Given the description of an element on the screen output the (x, y) to click on. 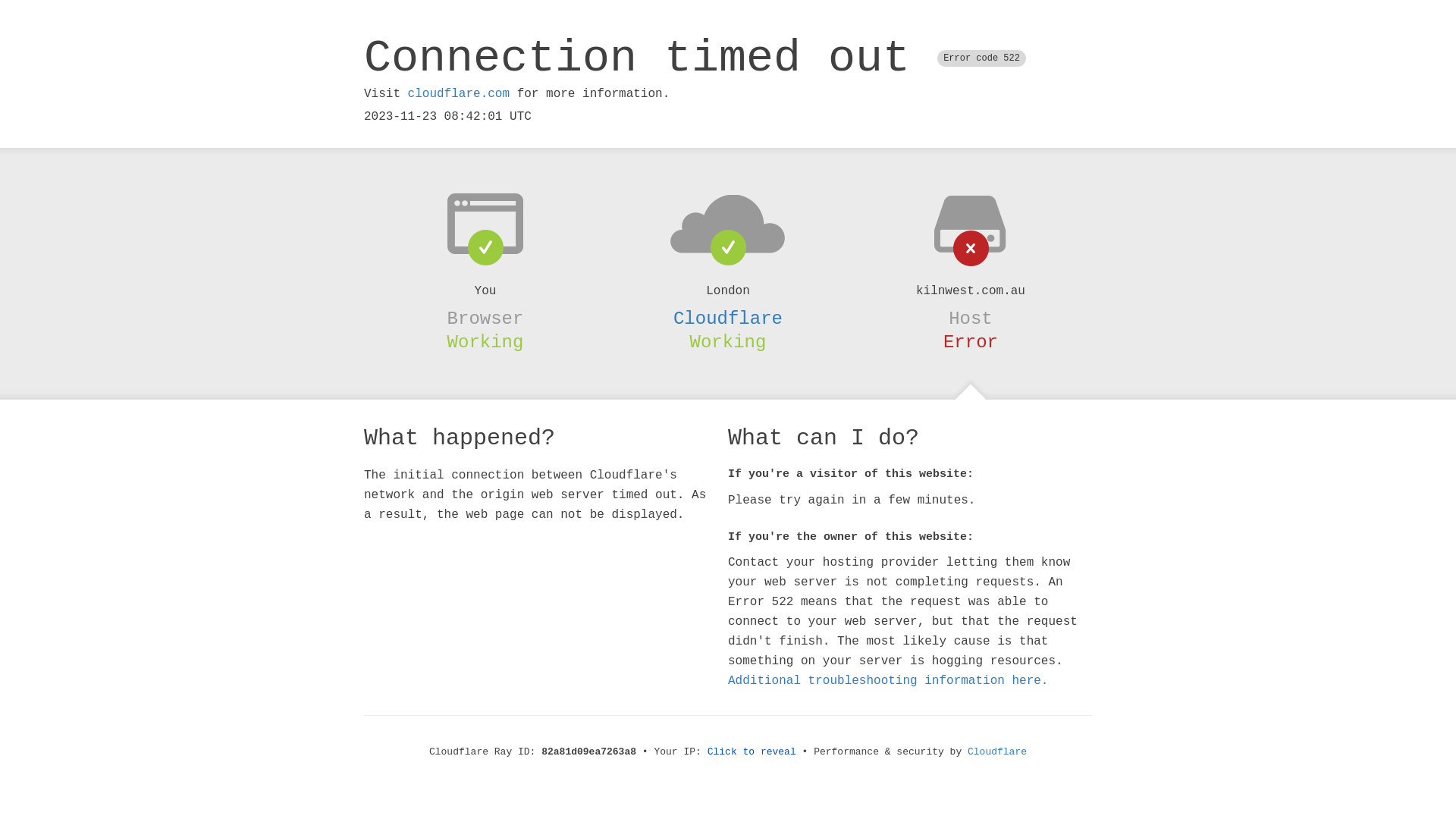
cloudflare.com Element type: text (458, 93)
Additional troubleshooting information here. Element type: text (888, 680)
Cloudflare Element type: text (996, 751)
Cloudflare Element type: text (727, 318)
Click to reveal Element type: text (751, 751)
